Given the description of an element on the screen output the (x, y) to click on. 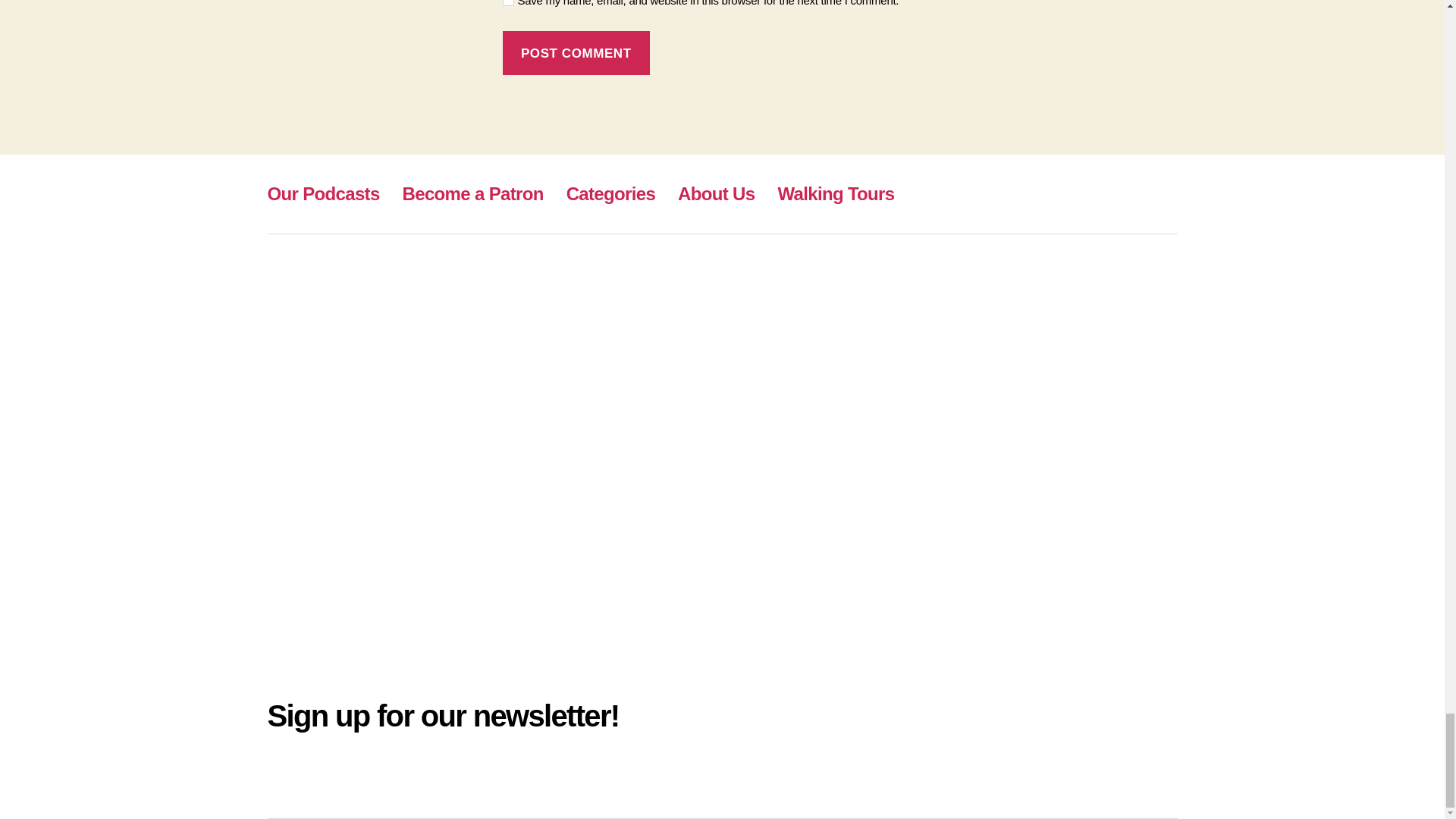
Post Comment (575, 53)
yes (507, 2)
